Given the description of an element on the screen output the (x, y) to click on. 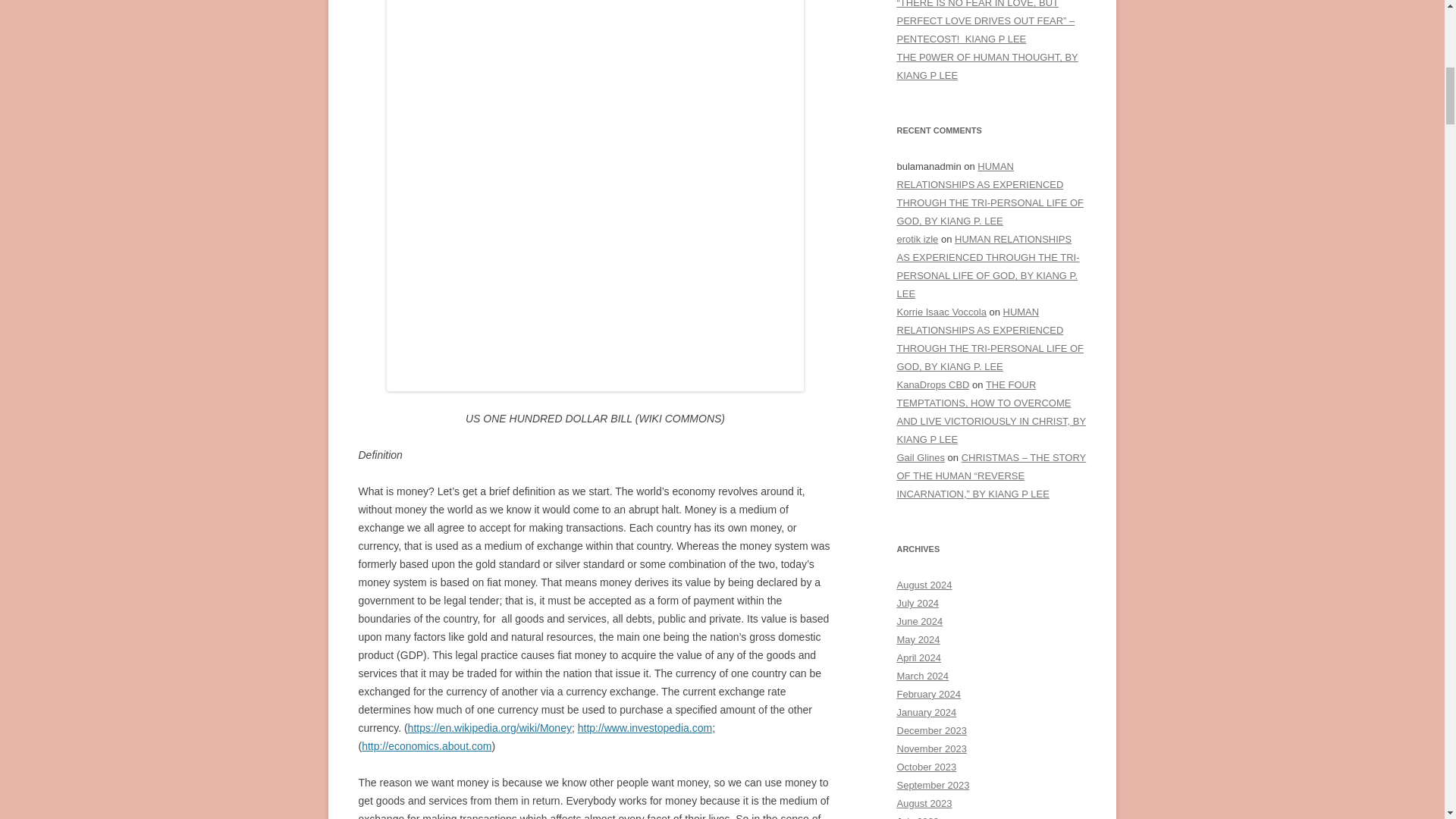
erotik izle (916, 238)
June 2024 (919, 621)
Gail Glines (920, 457)
KanaDrops CBD (932, 384)
April 2024 (918, 657)
January 2024 (926, 712)
August 2024 (924, 584)
February 2024 (927, 694)
